Given the description of an element on the screen output the (x, y) to click on. 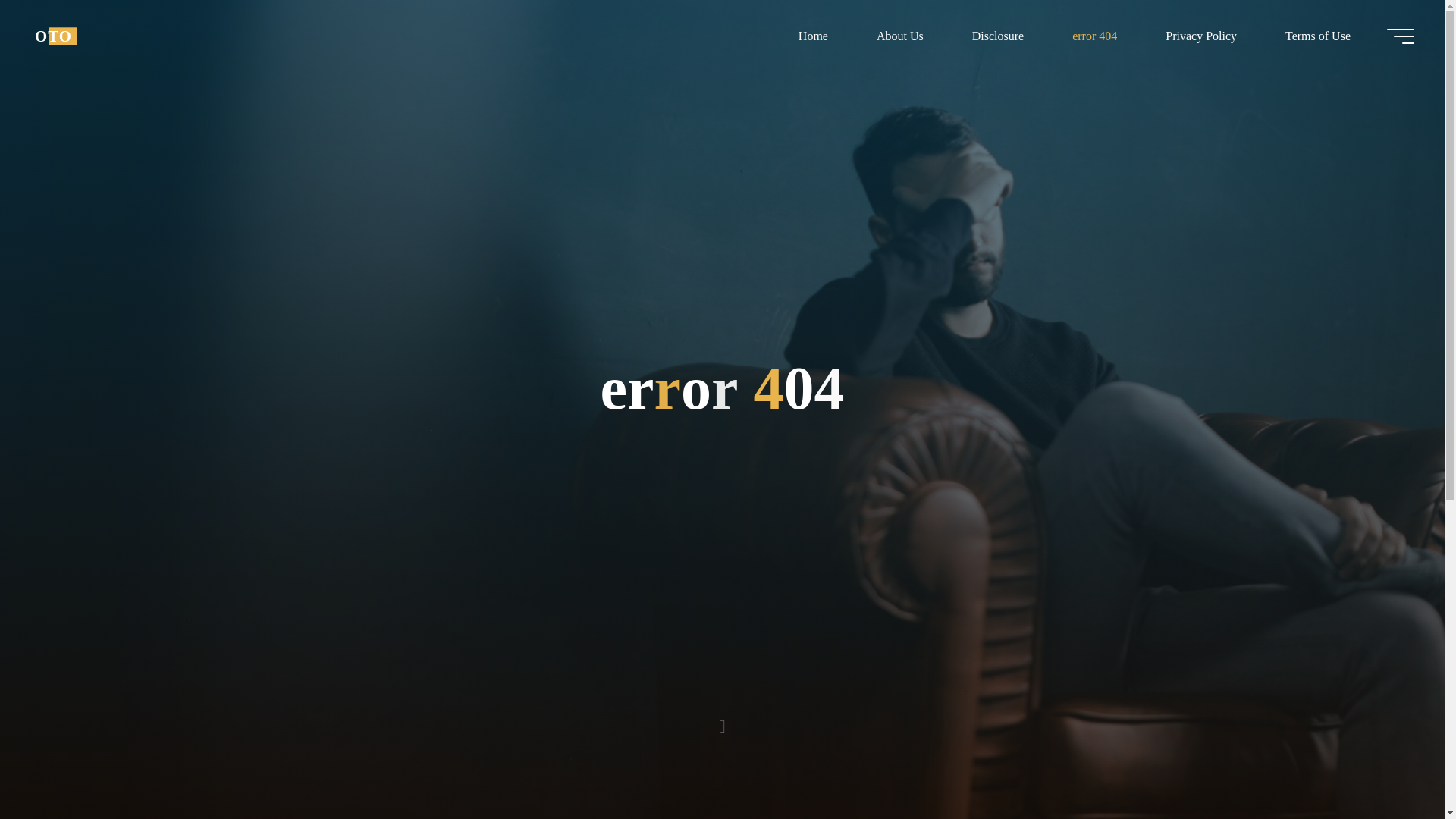
Disclosure (997, 35)
Privacy Policy (1200, 35)
Home (812, 35)
error 404 (1094, 35)
About Us (899, 35)
OTO (53, 36)
Terms of Use (1317, 35)
Read more (721, 724)
